Given the description of an element on the screen output the (x, y) to click on. 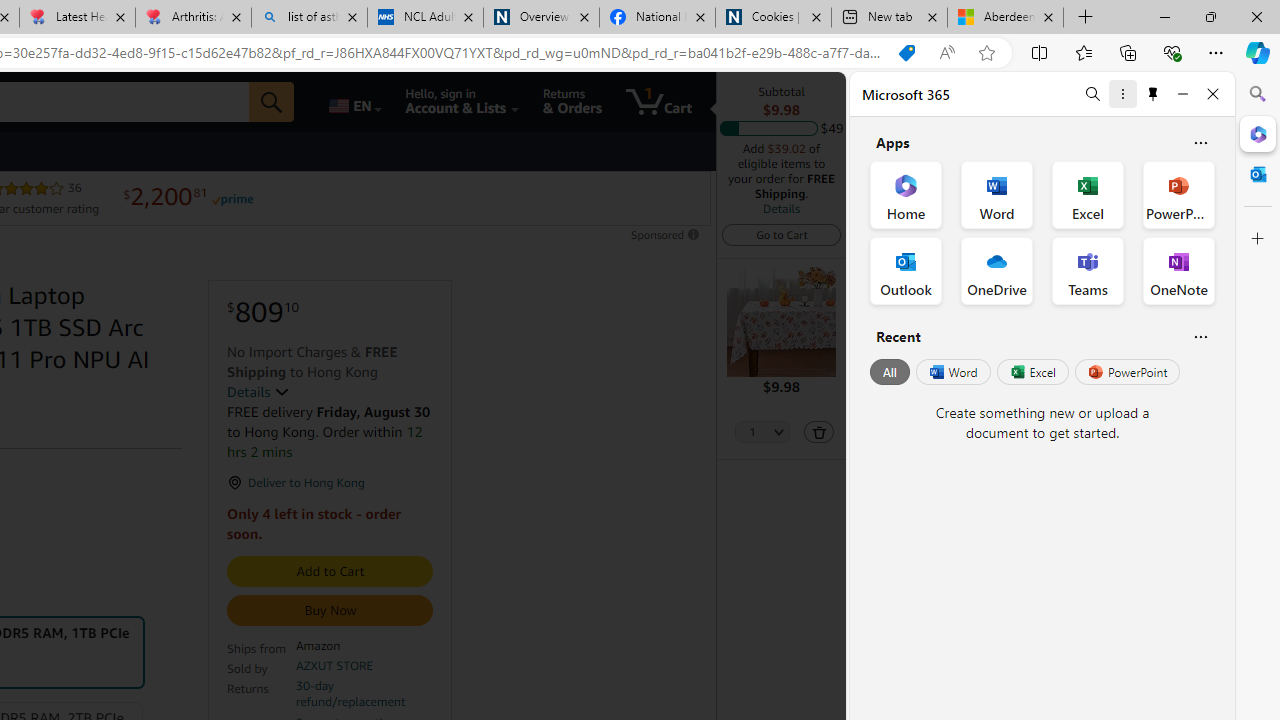
PowerPoint Office App (1178, 194)
1 item in cart (658, 101)
OneNote Office App (1178, 270)
Cookies | About | NICE (772, 17)
Prime (232, 198)
Hello, sign in Account & Lists (461, 101)
Details  (258, 391)
